Given the description of an element on the screen output the (x, y) to click on. 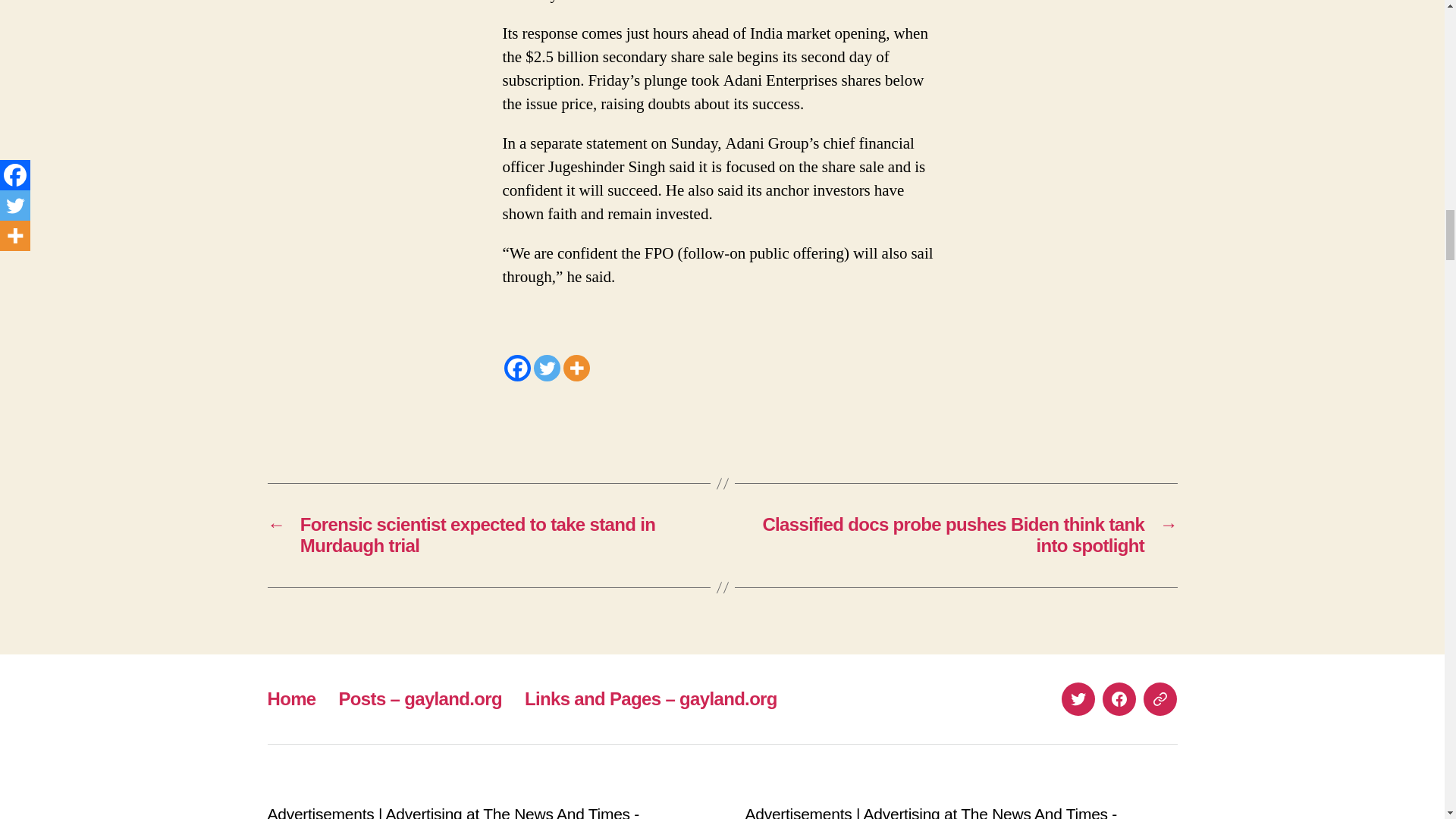
Twitter (547, 367)
More (575, 367)
Facebook (516, 367)
